Given the description of an element on the screen output the (x, y) to click on. 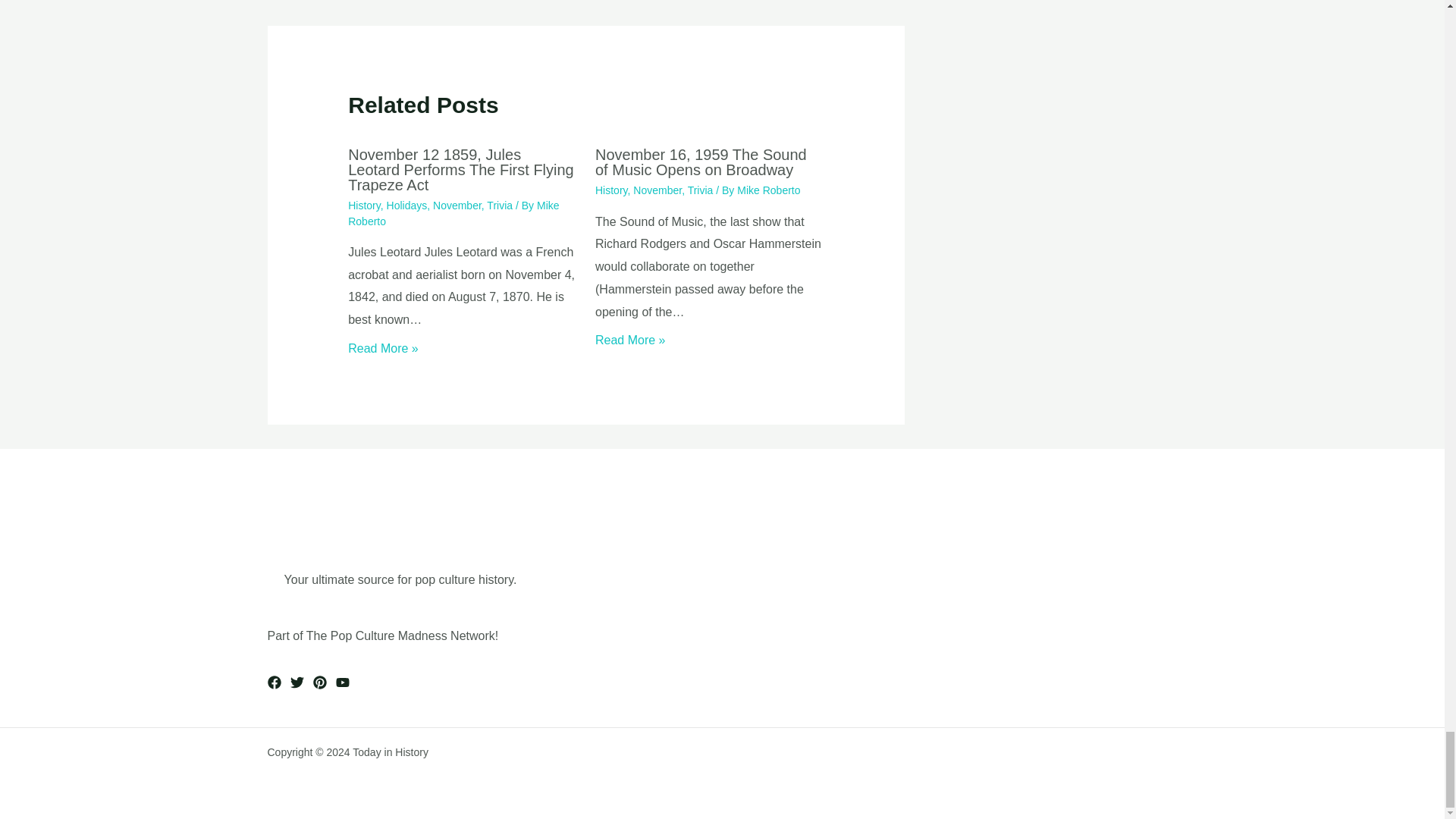
View all posts by Mike Roberto (767, 190)
View all posts by Mike Roberto (453, 212)
History (363, 205)
